Given the description of an element on the screen output the (x, y) to click on. 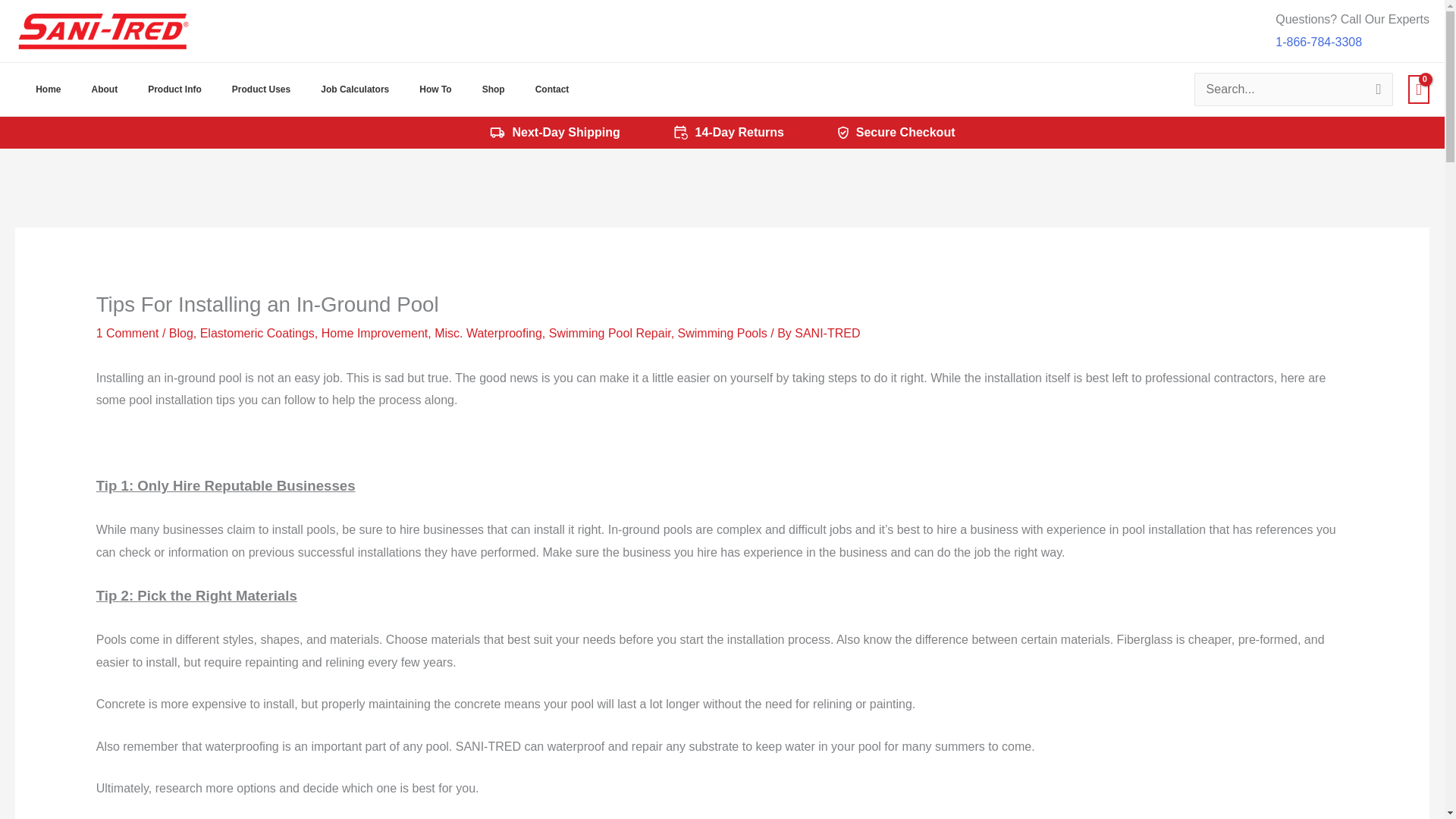
Home (45, 89)
1-866-784-3308 (1318, 42)
View all posts by SANI-TRED (827, 332)
Product Info (174, 89)
About (105, 89)
